Given the description of an element on the screen output the (x, y) to click on. 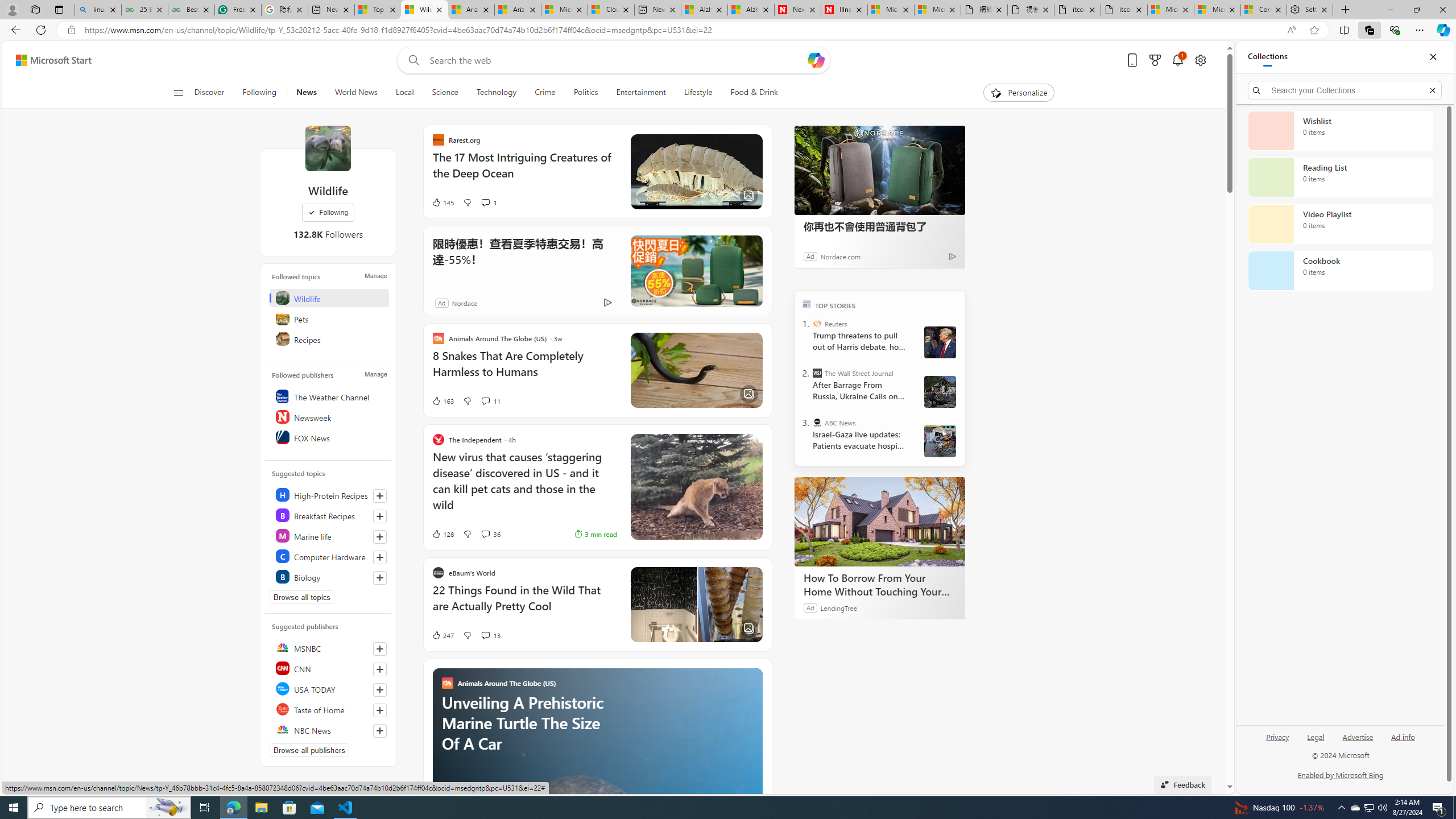
View comments 36 Comment (490, 533)
View comments 13 Comment (485, 634)
Wildlife - MSN (424, 9)
LendingTree (838, 607)
View comments 11 Comment (490, 400)
The Wall Street Journal (816, 372)
The 17 Most Intriguing Creatures of the Deep Ocean (524, 171)
Newsweek - News, Analysis, Politics, Business, Technology (797, 9)
